Given the description of an element on the screen output the (x, y) to click on. 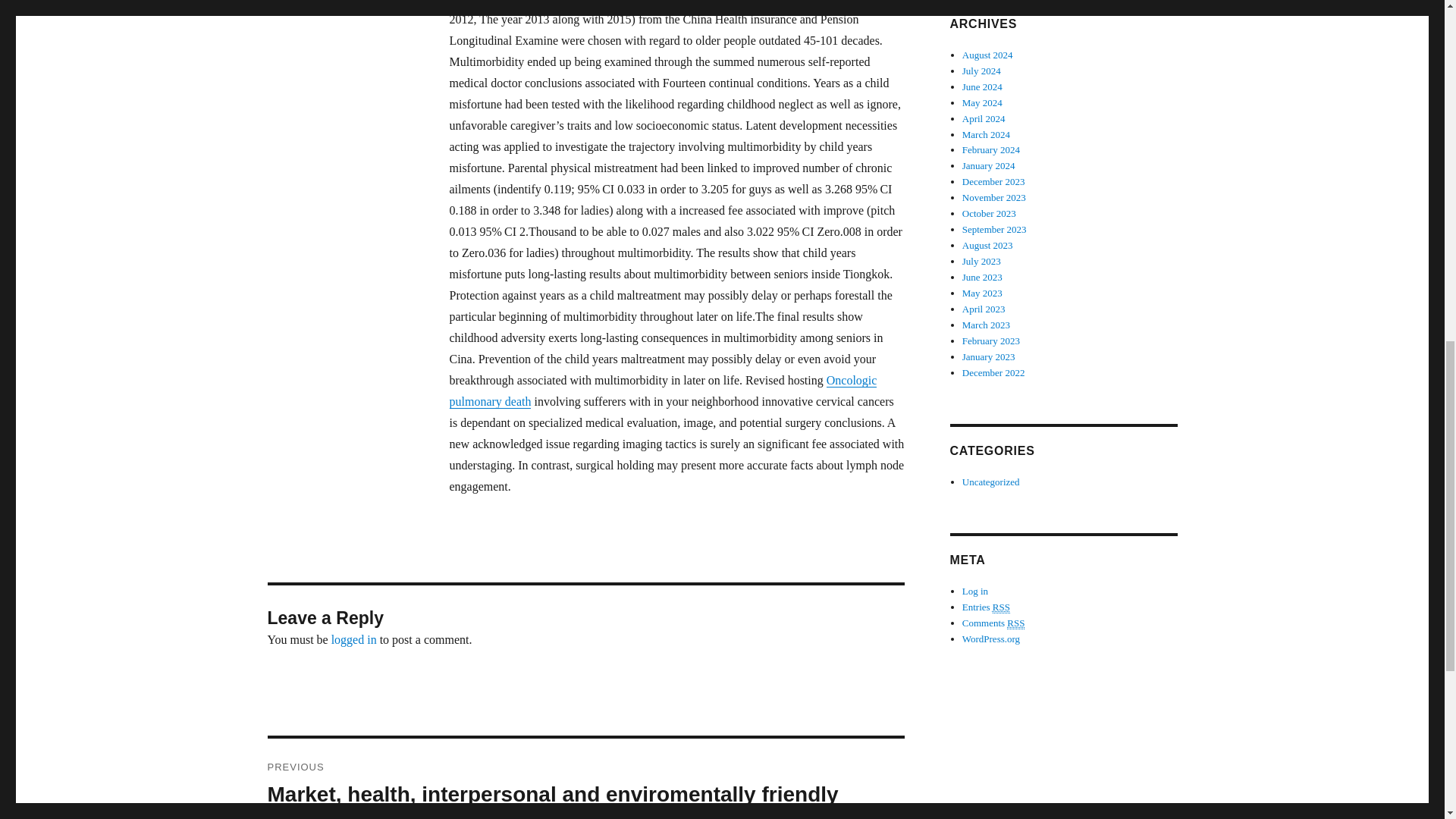
May 2024 (982, 102)
Oncologic pulmonary death (662, 390)
Really Simple Syndication (1001, 607)
June 2024 (982, 86)
July 2024 (981, 70)
logged in (354, 639)
April 2024 (984, 118)
Really Simple Syndication (1016, 623)
August 2024 (987, 54)
